Given the description of an element on the screen output the (x, y) to click on. 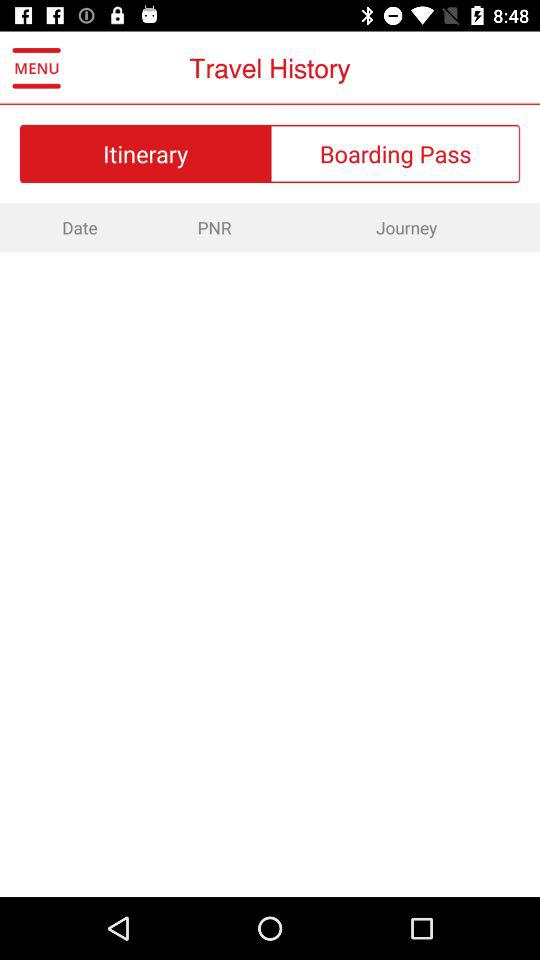
select date item (77, 227)
